Given the description of an element on the screen output the (x, y) to click on. 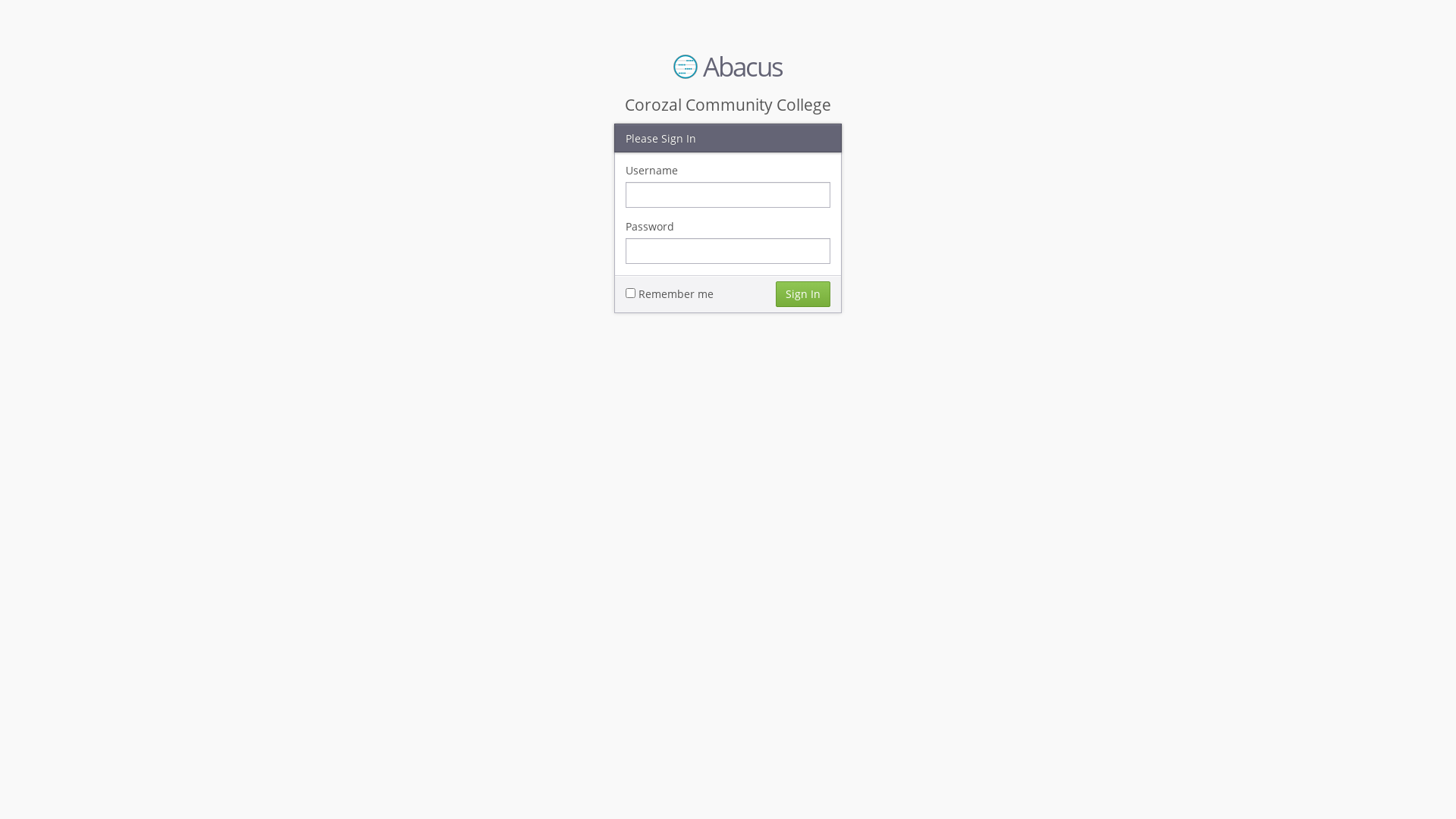
Sign In Element type: text (802, 293)
